Given the description of an element on the screen output the (x, y) to click on. 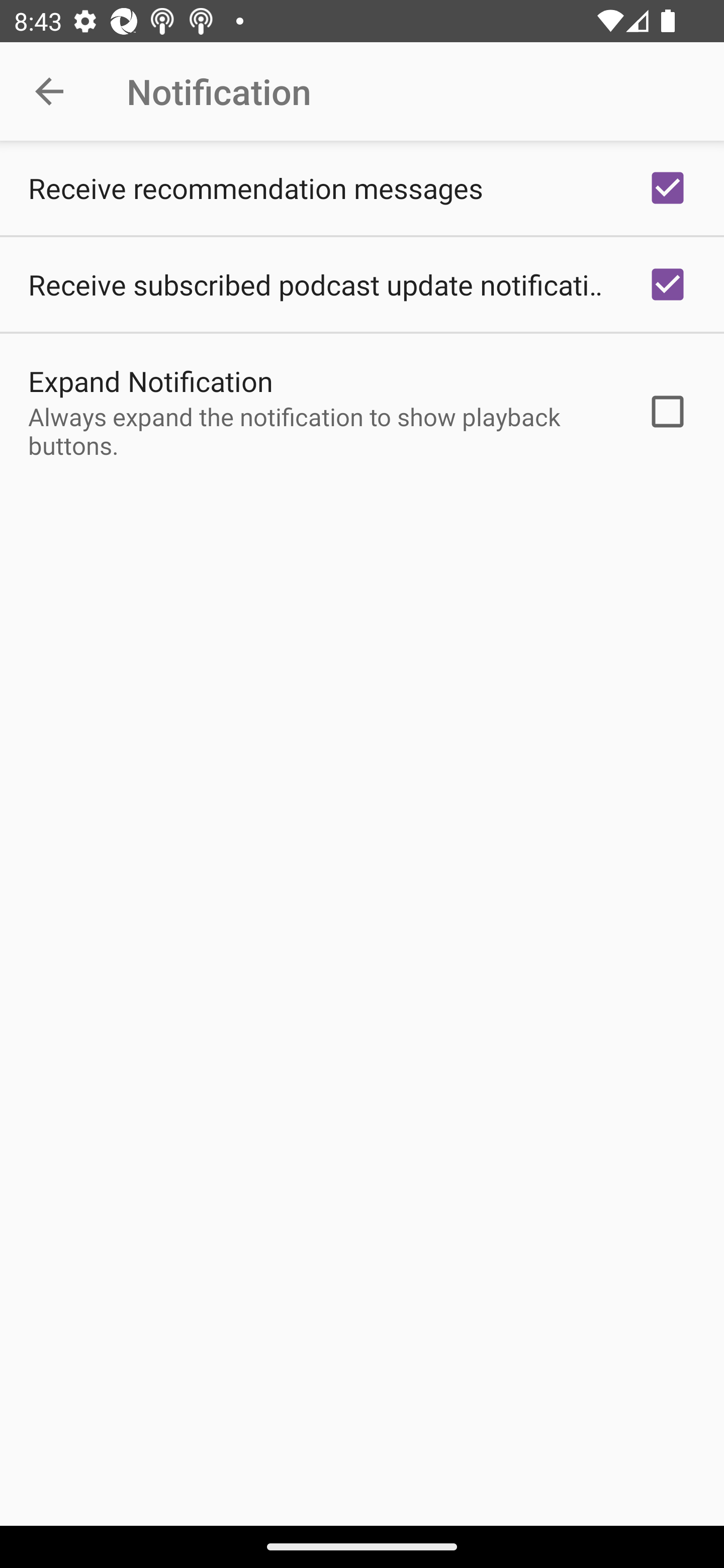
Receive recommendation messages (362, 188)
Receive subscribed podcast update notification (362, 284)
